Given the description of an element on the screen output the (x, y) to click on. 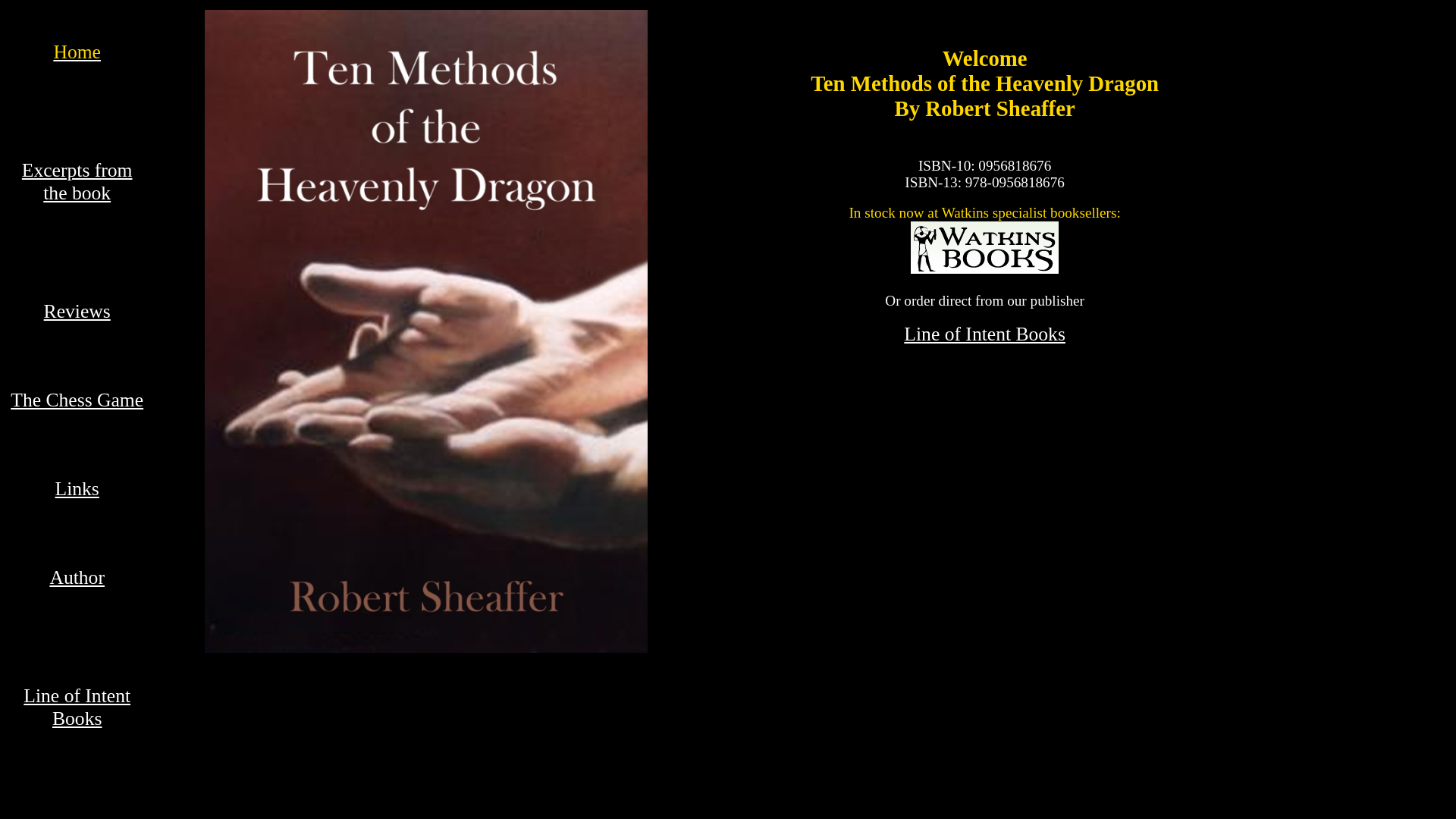
Links Element type: text (77, 488)
Line of Intent Books Element type: text (76, 706)
Line of Intent Books Element type: text (984, 334)
The Chess Game Element type: text (76, 400)
Reviews Element type: text (76, 311)
Author Element type: text (76, 577)
Home Element type: text (76, 51)
Excerpts from the book Element type: text (76, 181)
